Given the description of an element on the screen output the (x, y) to click on. 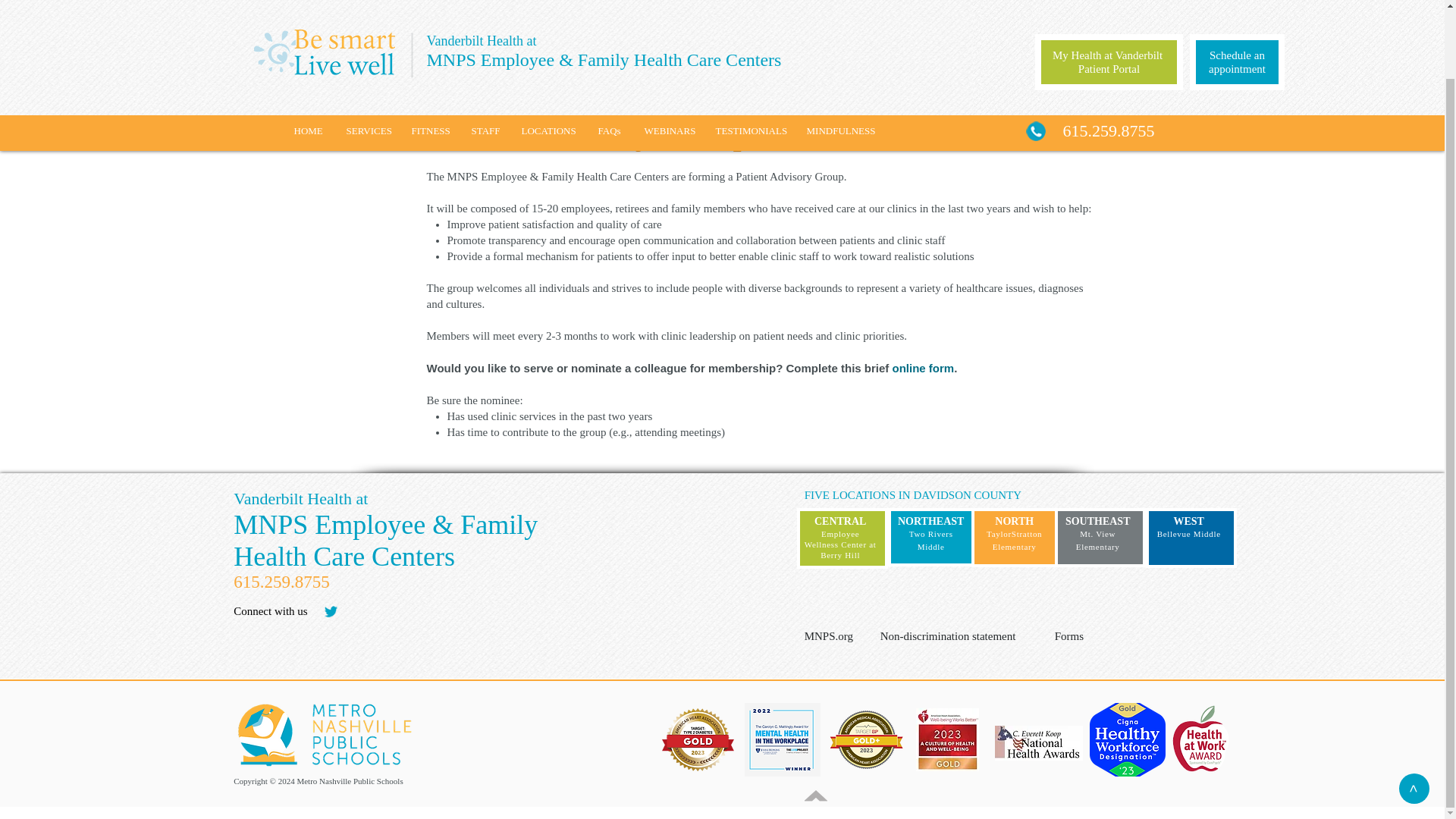
Site Search (470, 614)
FAQs (609, 55)
WEBINARS (667, 55)
TESTIMONIALS (748, 55)
online form (923, 367)
MINDFULNESS (839, 55)
Signature logo - selection 2022.png (782, 739)
LOCATIONS (547, 55)
MNPS.org (840, 636)
FITNESS (430, 55)
